Given the description of an element on the screen output the (x, y) to click on. 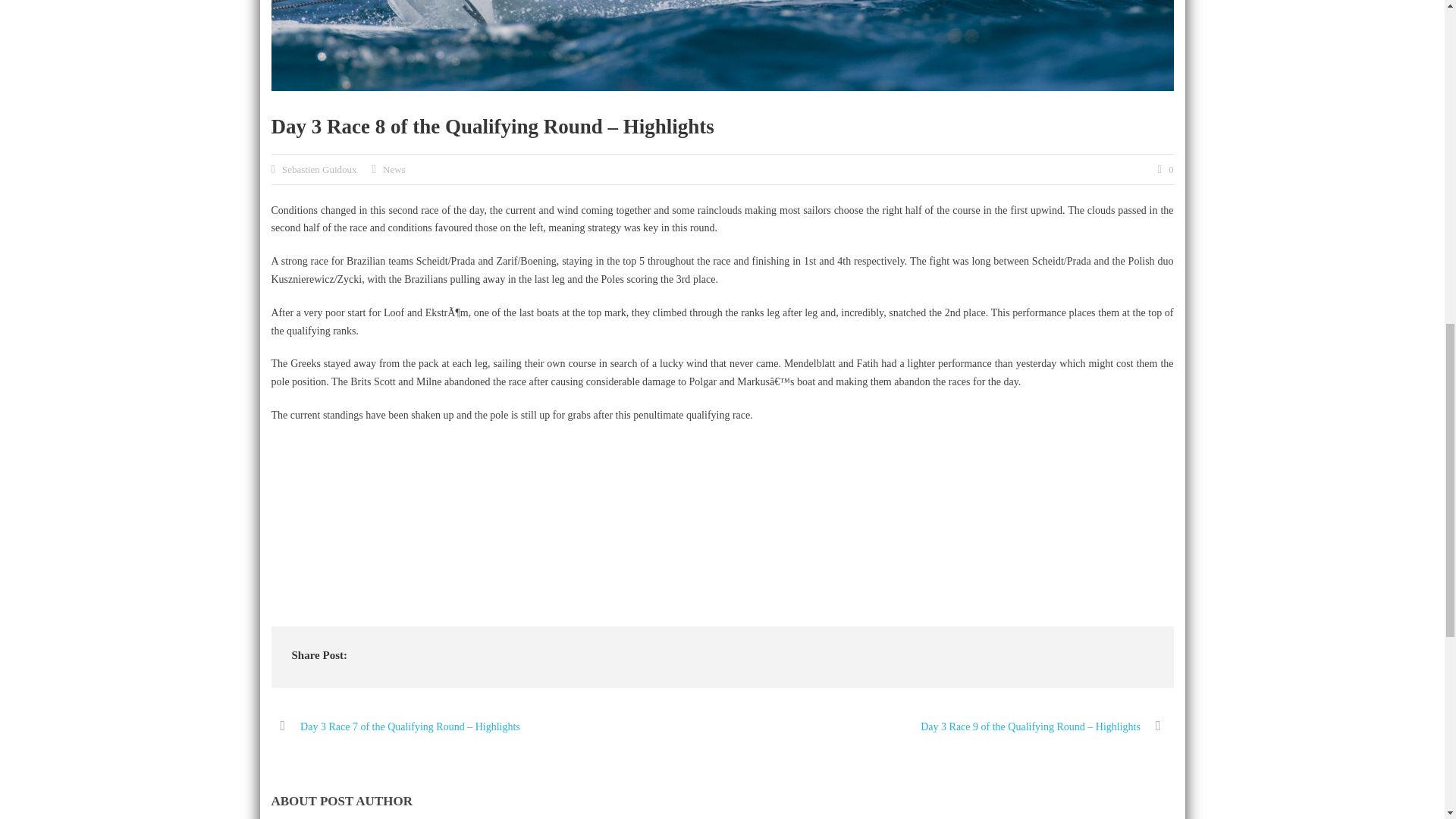
Posts by Sebastien Guidoux (319, 169)
News (394, 169)
Sebastien Guidoux (319, 169)
